Given the description of an element on the screen output the (x, y) to click on. 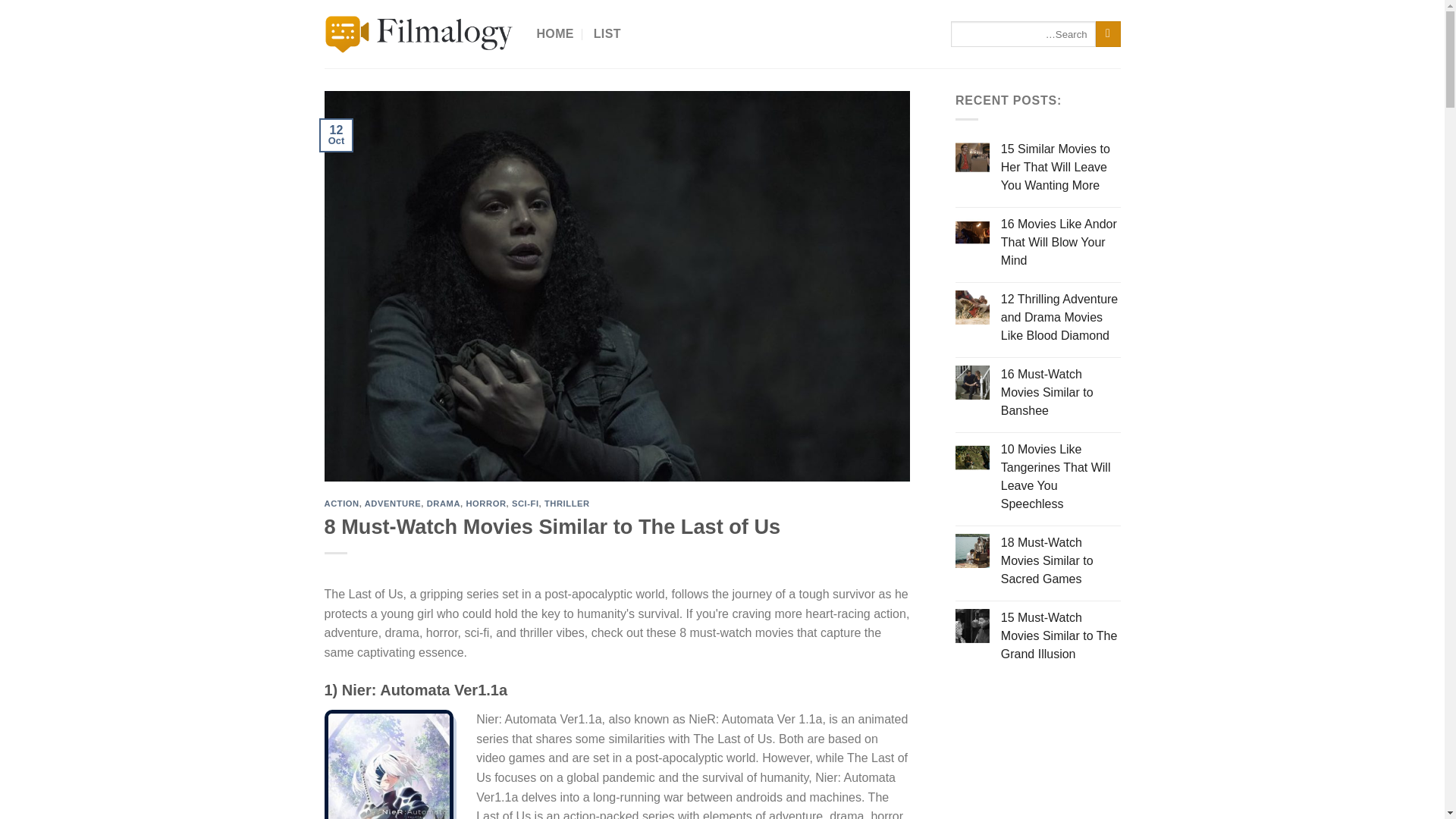
18 Must-Watch Movies Similar to Sacred Games (1061, 560)
ADVENTURE (393, 502)
DRAMA (443, 502)
10 Movies Like Tangerines That Will Leave You Speechless (1061, 476)
15 Similar Movies to Her That Will Leave You Wanting More (1061, 167)
12 Thrilling Adventure and Drama Movies Like Blood Diamond (1061, 317)
HORROR (485, 502)
15 Must-Watch Movies Similar to The Grand Illusion (1061, 636)
16 Movies Like Andor That Will Blow Your Mind (1061, 242)
16 Must-Watch Movies Similar to Banshee (1061, 392)
SCI-FI (525, 502)
THRILLER (566, 502)
16 Movies Like Andor That Will Blow Your Mind (1061, 242)
15 Similar Movies to Her That Will Leave You Wanting More (1061, 167)
HOME (555, 33)
